Given the description of an element on the screen output the (x, y) to click on. 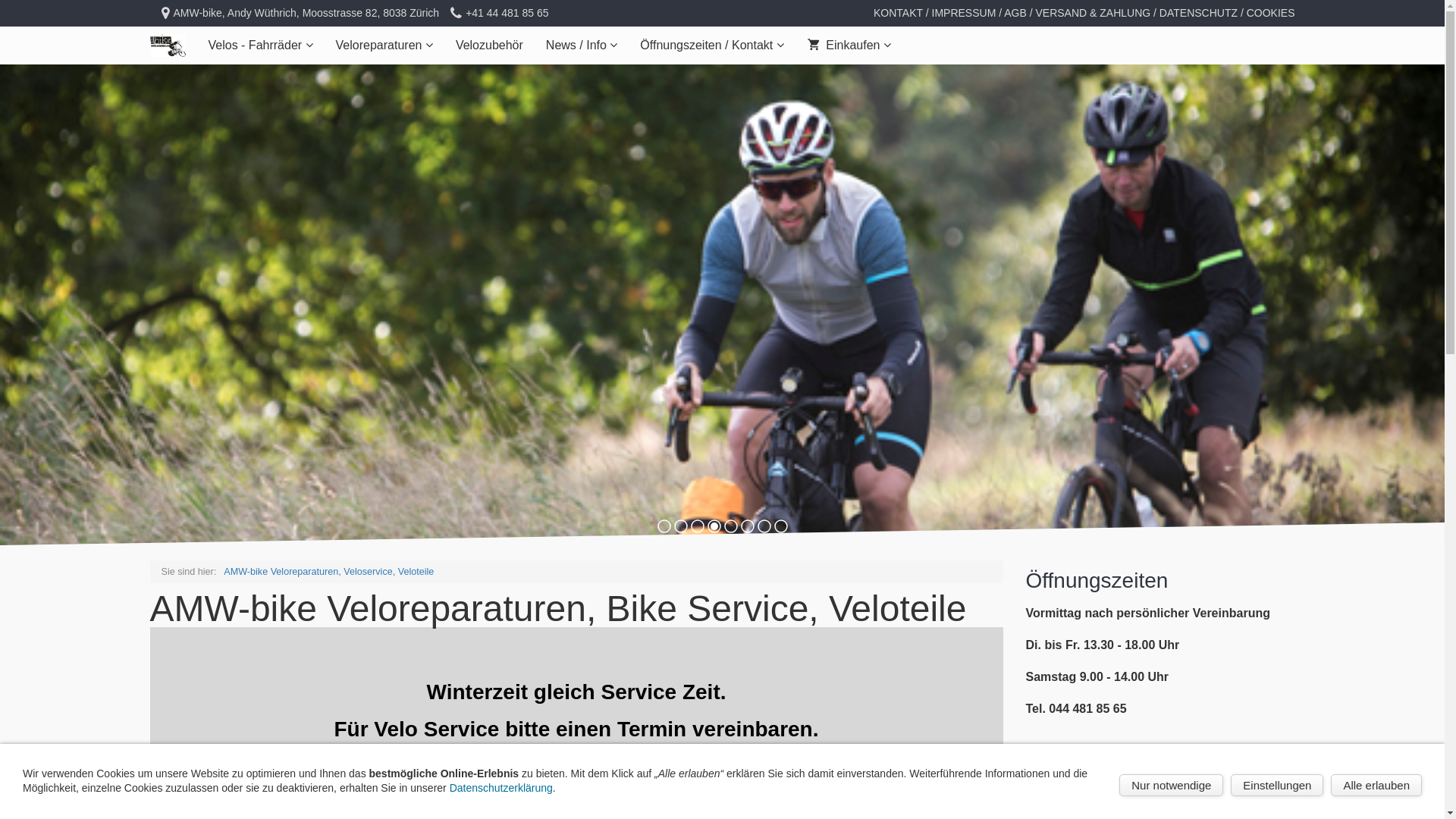
VERSAND & ZAHLUNG Element type: text (1092, 12)
Alle erlauben Element type: text (1375, 785)
News / Info Element type: text (581, 45)
Veloreparaturen Element type: text (384, 45)
Nur notwendige Element type: text (1171, 785)
DATENSCHUTZ Element type: text (1198, 12)
KONTAKT Element type: text (897, 12)
AGB Element type: text (1015, 12)
Einkaufen Element type: text (848, 45)
IMPRESSUM Element type: text (963, 12)
AMW-bike Veloreparaturen, Veloservice, Veloteile Element type: text (328, 571)
COOKIES Element type: text (1270, 12)
Einstellungen Element type: text (1276, 785)
